Given the description of an element on the screen output the (x, y) to click on. 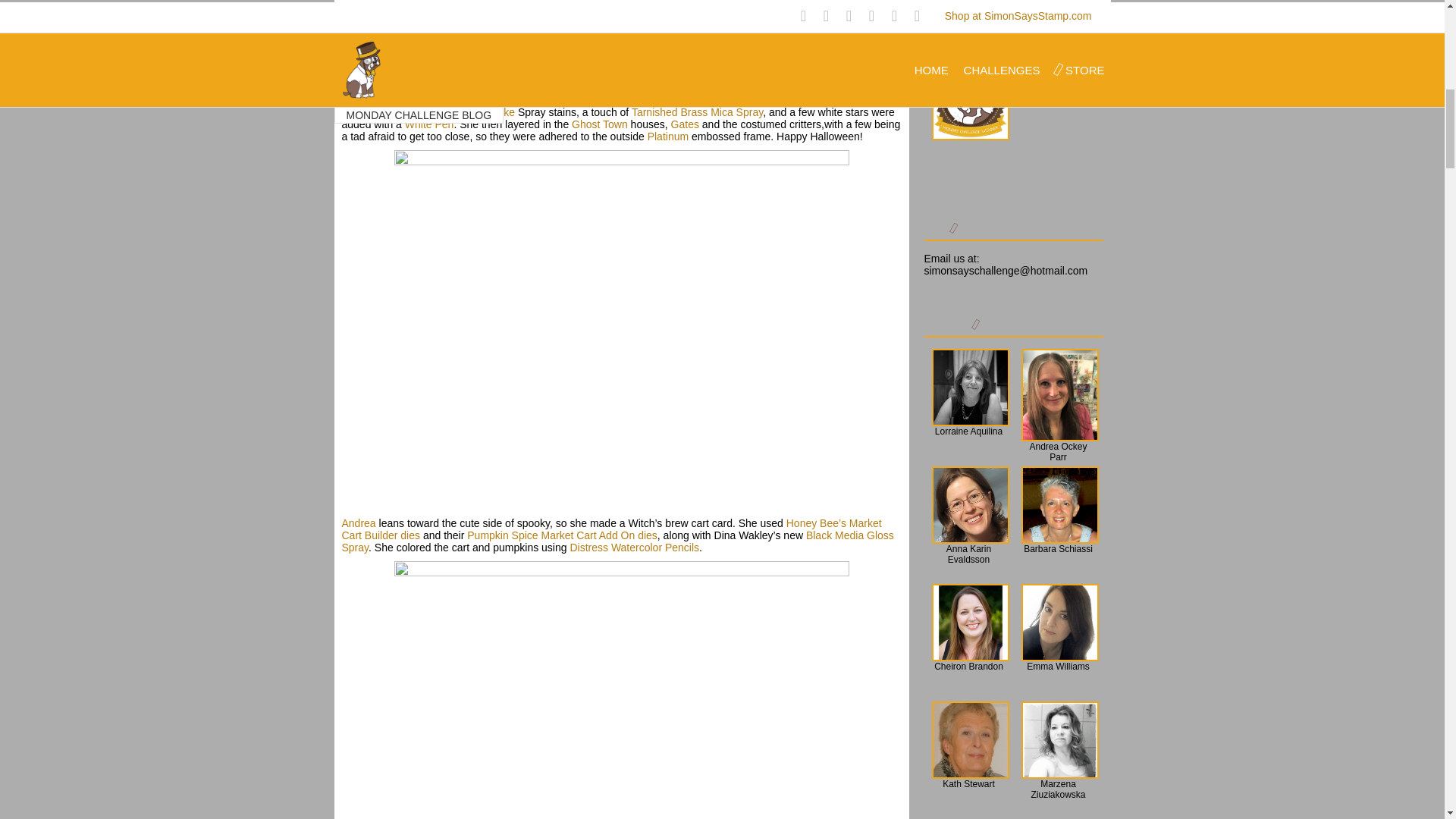
Hickory Smoke (479, 111)
Lori (349, 87)
Colorado Craft, Anita Jeram, Scaredy Cats (613, 93)
Andrea (357, 522)
watercolor (754, 87)
Distress Watercolor Pencils (633, 547)
Ghost Town (599, 123)
Black Media Gloss Spray (616, 541)
Tarnished Brass Mica Spray (696, 111)
Pumpkin Spice Market Cart Add On dies (562, 535)
Villainous Potion (379, 111)
Platinum (667, 136)
Gates (684, 123)
White Pen (429, 123)
Tim Holtz Moon Mask (819, 100)
